Given the description of an element on the screen output the (x, y) to click on. 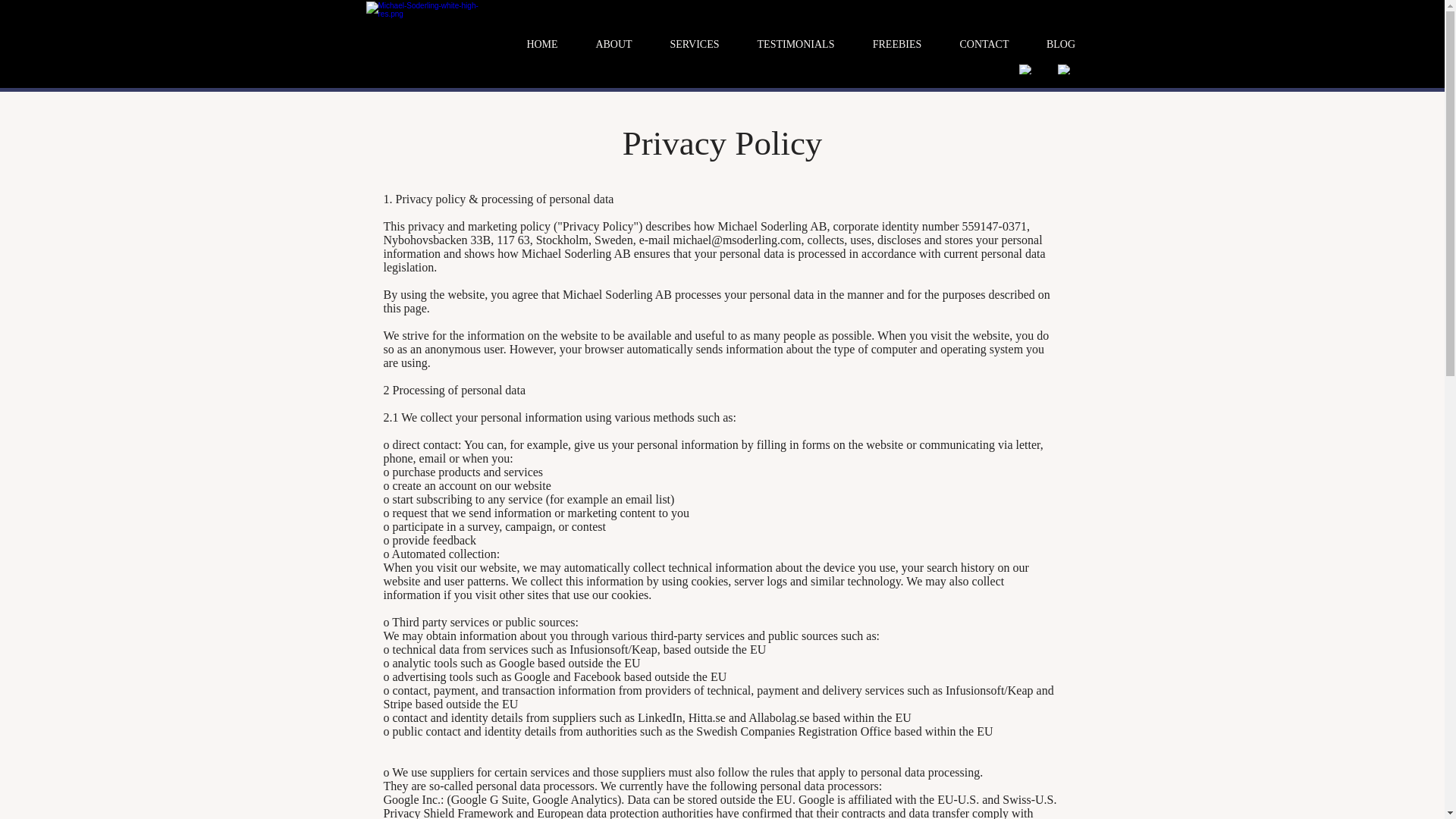
CONTACT (983, 44)
TESTIMONIALS (795, 44)
FREEBIES (896, 44)
BLOG (1060, 44)
SERVICES (694, 44)
HOME (542, 44)
ABOUT (613, 44)
